Given the description of an element on the screen output the (x, y) to click on. 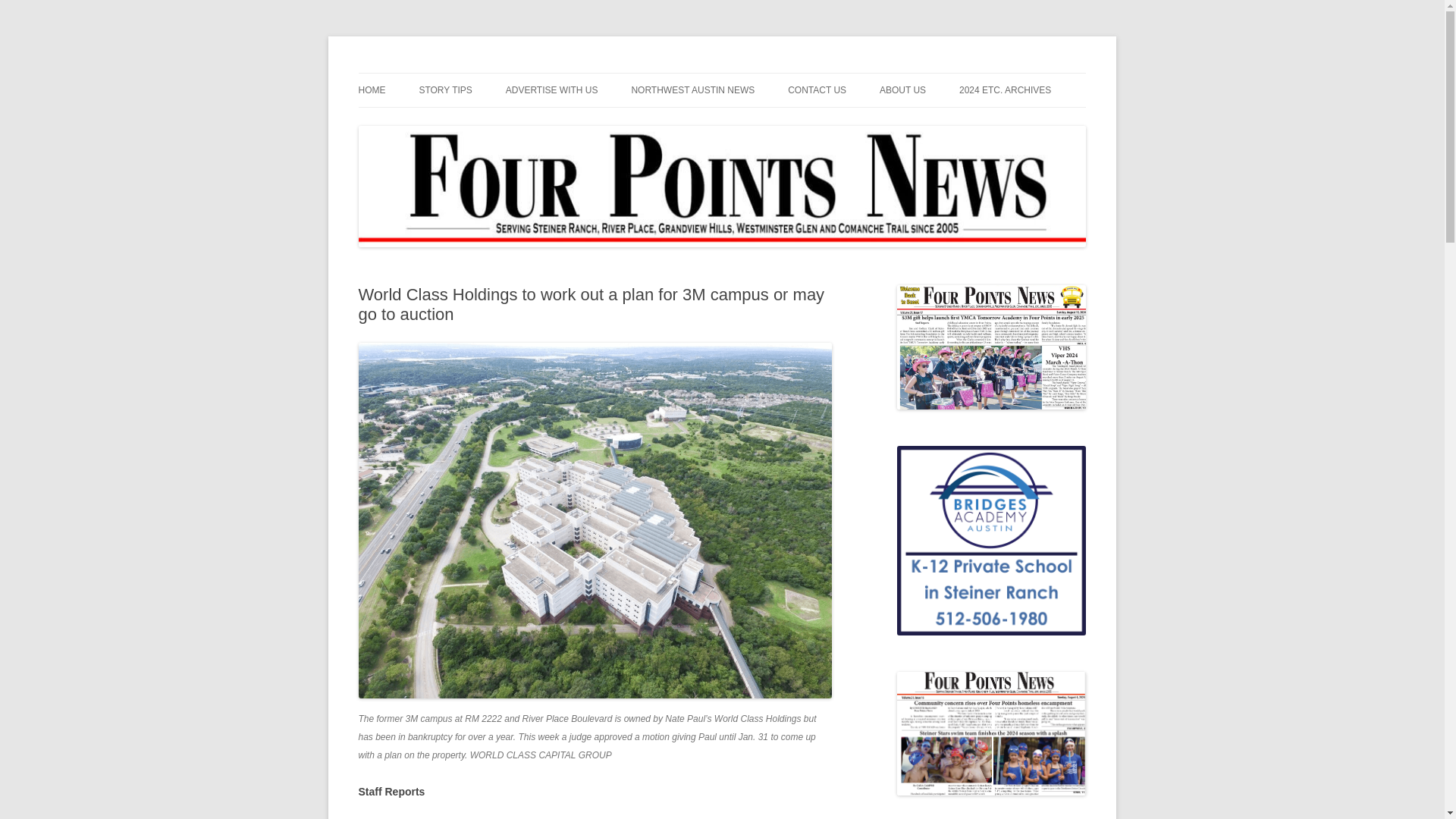
NORTHWEST AUSTIN NEWS (692, 90)
ADVERTISE WITH US (551, 90)
2024 ETC. ARCHIVES (1005, 90)
ABOUT US (902, 90)
STORY TIPS (445, 90)
CONTACT US (816, 90)
